Given the description of an element on the screen output the (x, y) to click on. 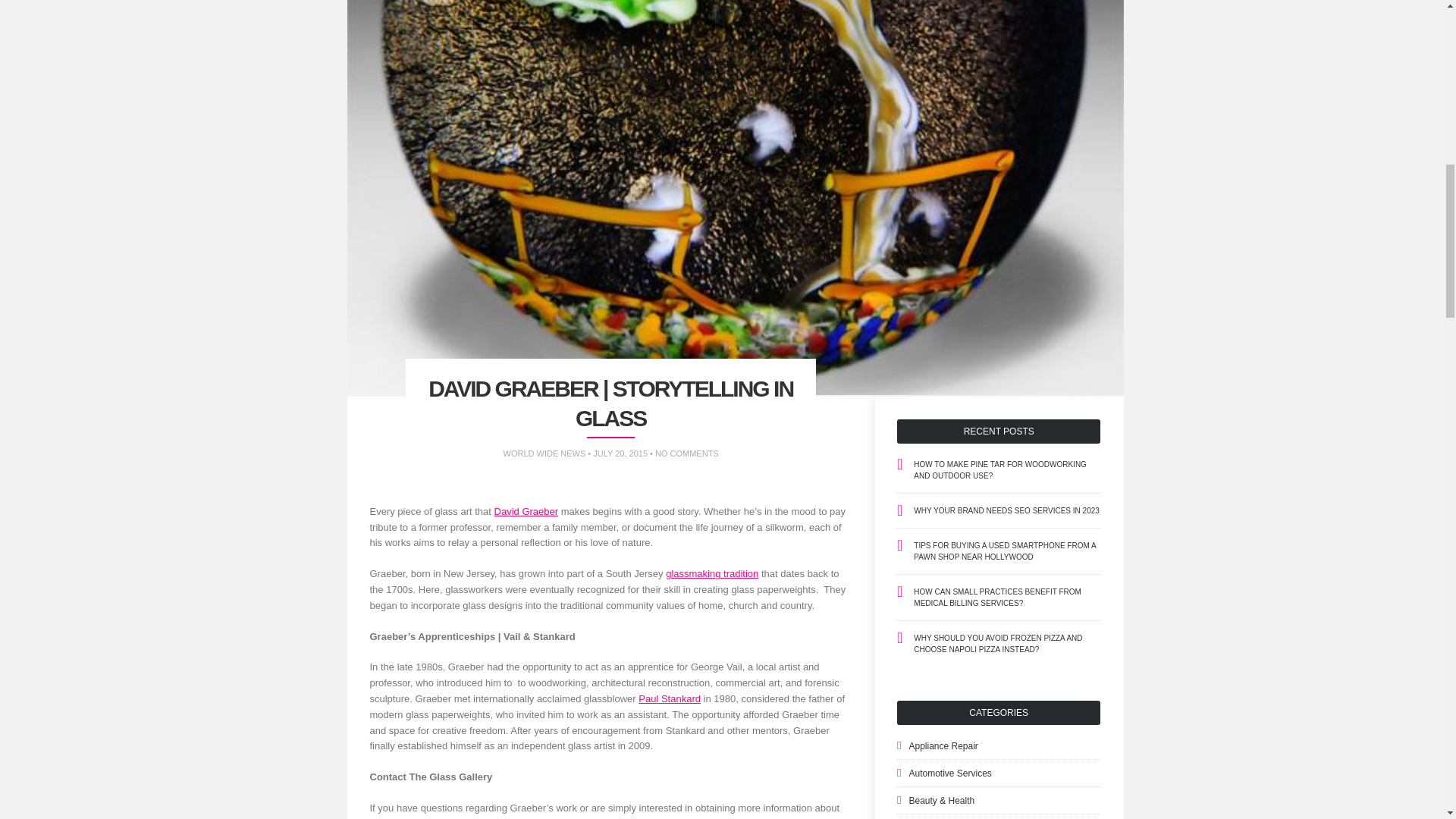
David Graeber (527, 511)
Paul Stankard (669, 698)
HOW TO MAKE PINE TAR FOR WOODWORKING AND OUTDOOR USE? (1000, 469)
glassmaking tradition (711, 573)
